Given the description of an element on the screen output the (x, y) to click on. 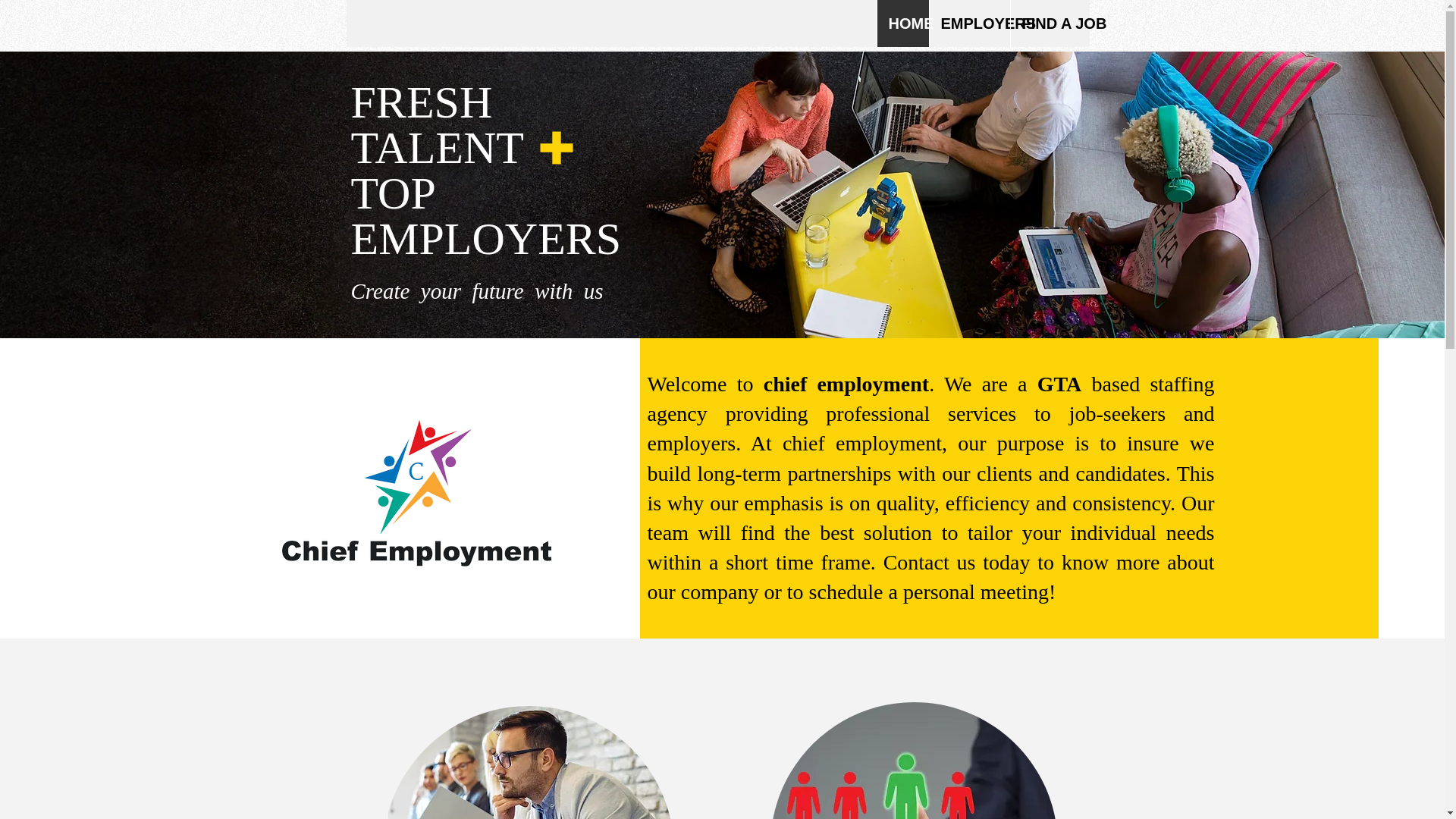
EMPLOYERS (968, 23)
400JpgdpiLogo.jpg (415, 502)
HOME (902, 23)
FIND A JOB (1049, 23)
